Given the description of an element on the screen output the (x, y) to click on. 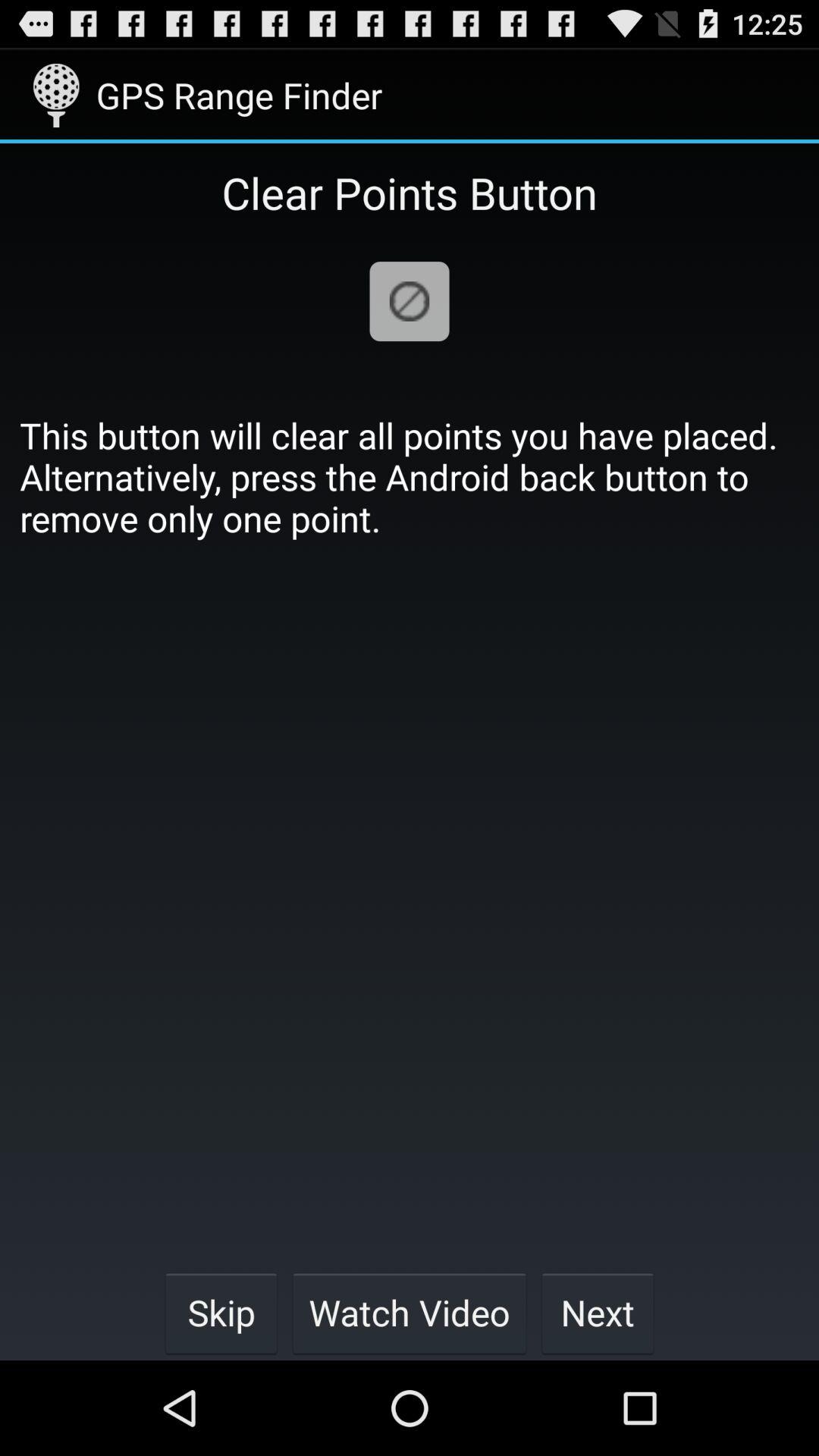
open watch video (409, 1312)
